Given the description of an element on the screen output the (x, y) to click on. 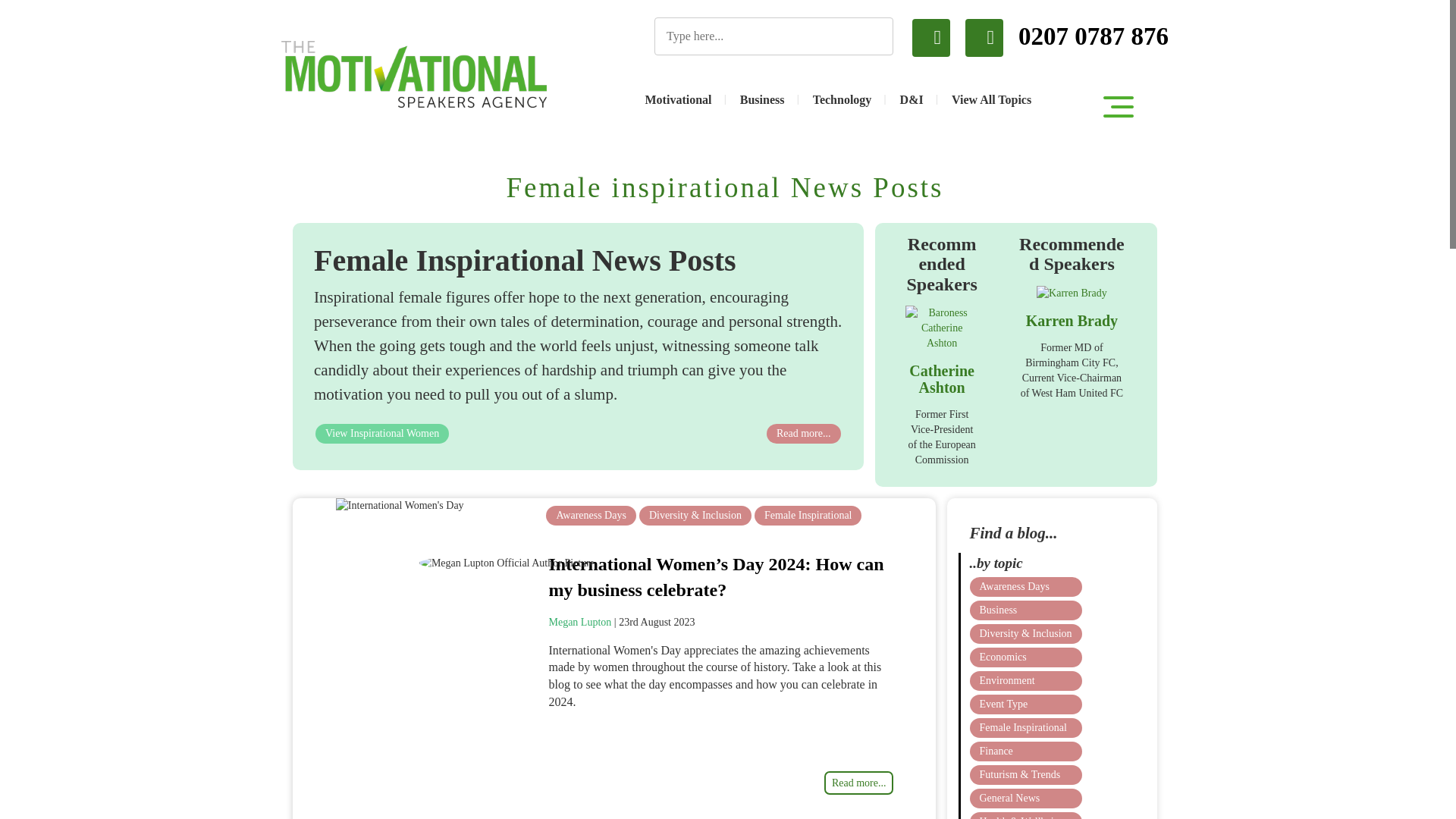
Home (414, 73)
SEARCH (874, 35)
0207 0787 876 (1067, 37)
